Given the description of an element on the screen output the (x, y) to click on. 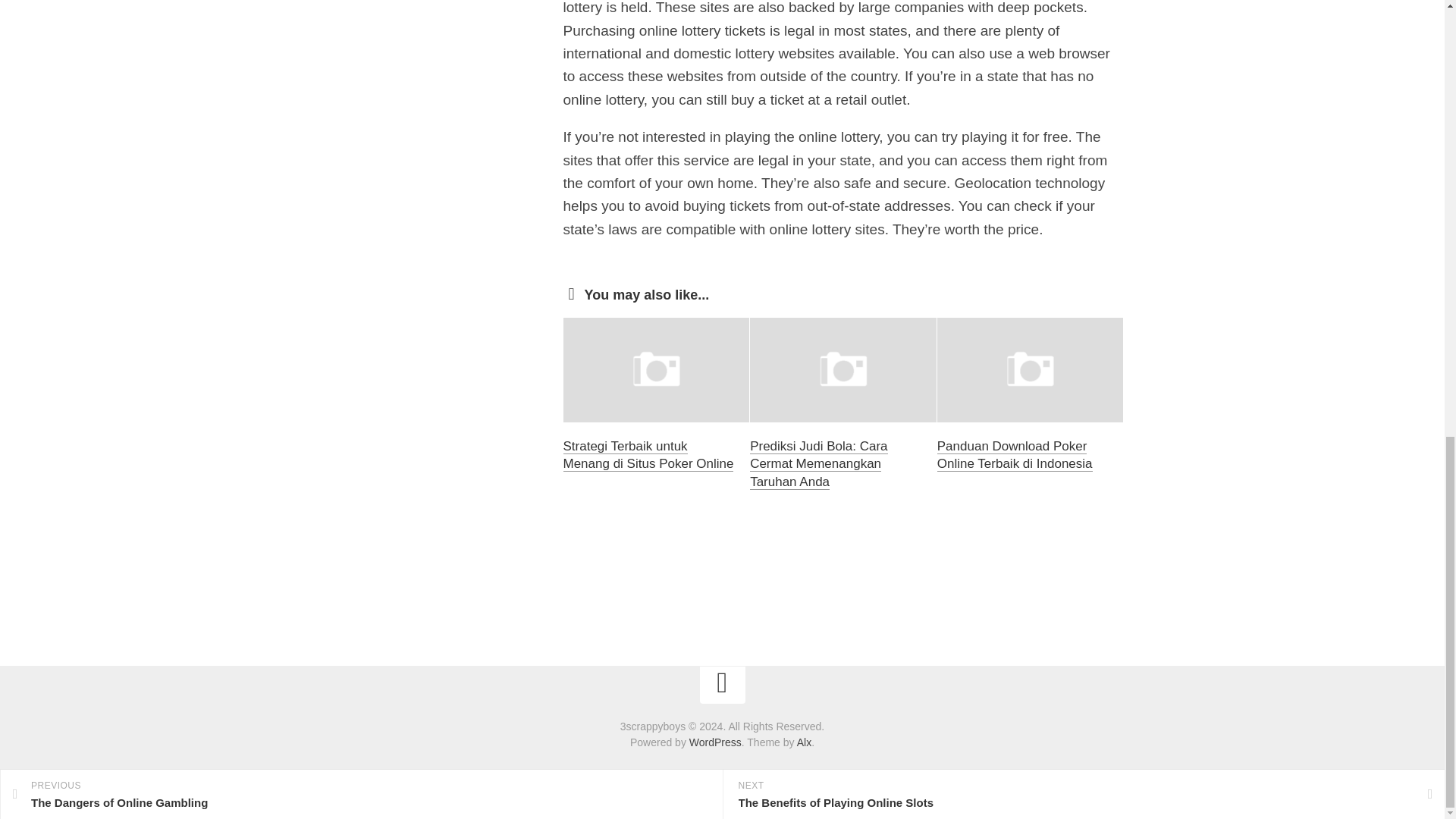
Strategi Terbaik untuk Menang di Situs Poker Online (647, 454)
WordPress (714, 742)
Prediksi Judi Bola: Cara Cermat Memenangkan Taruhan Anda (817, 463)
Panduan Download Poker Online Terbaik di Indonesia (1015, 454)
Alx (803, 742)
